Given the description of an element on the screen output the (x, y) to click on. 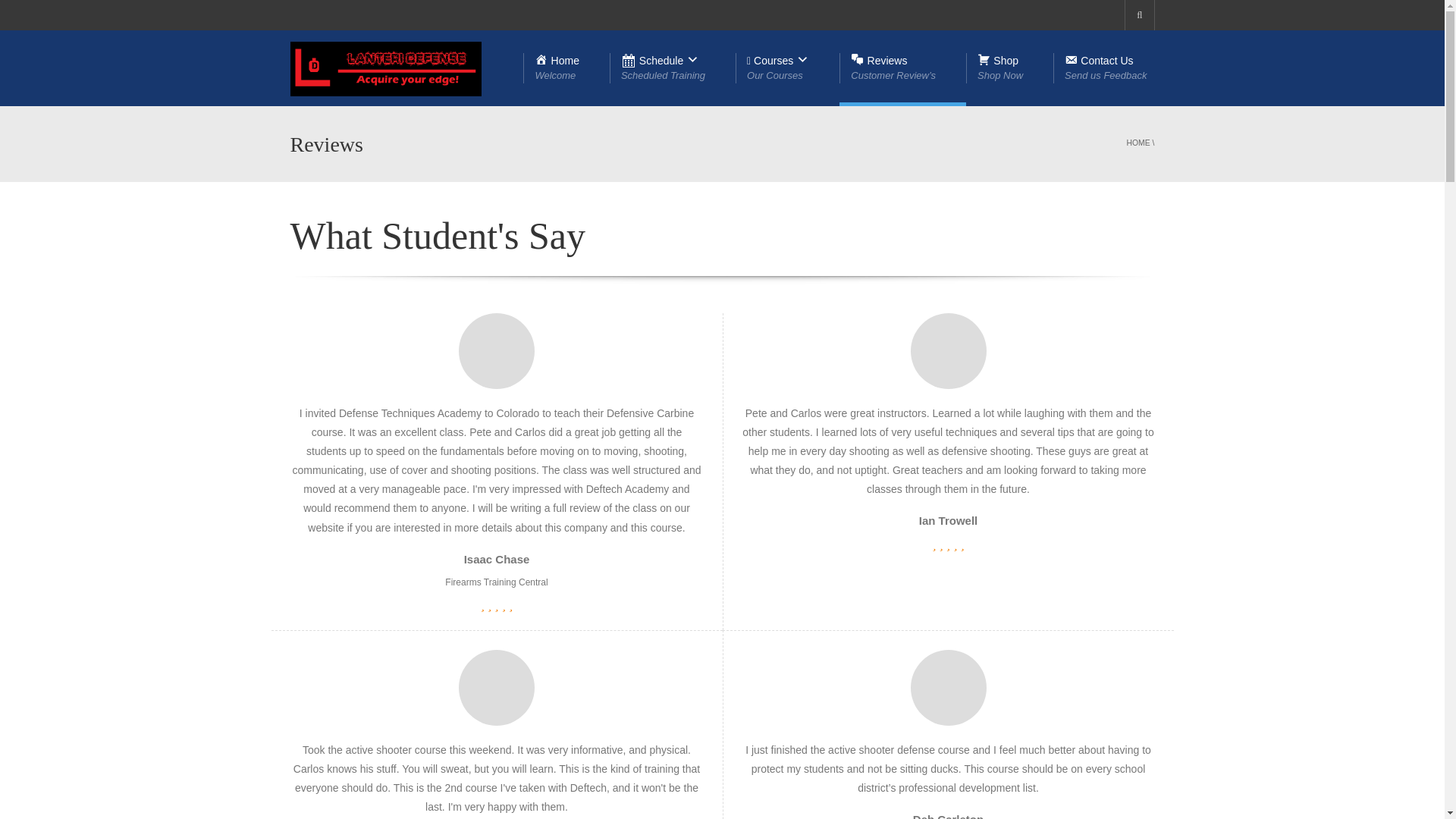
Firearms Training Central (672, 68)
HOME (566, 68)
divider2 (496, 582)
